Given the description of an element on the screen output the (x, y) to click on. 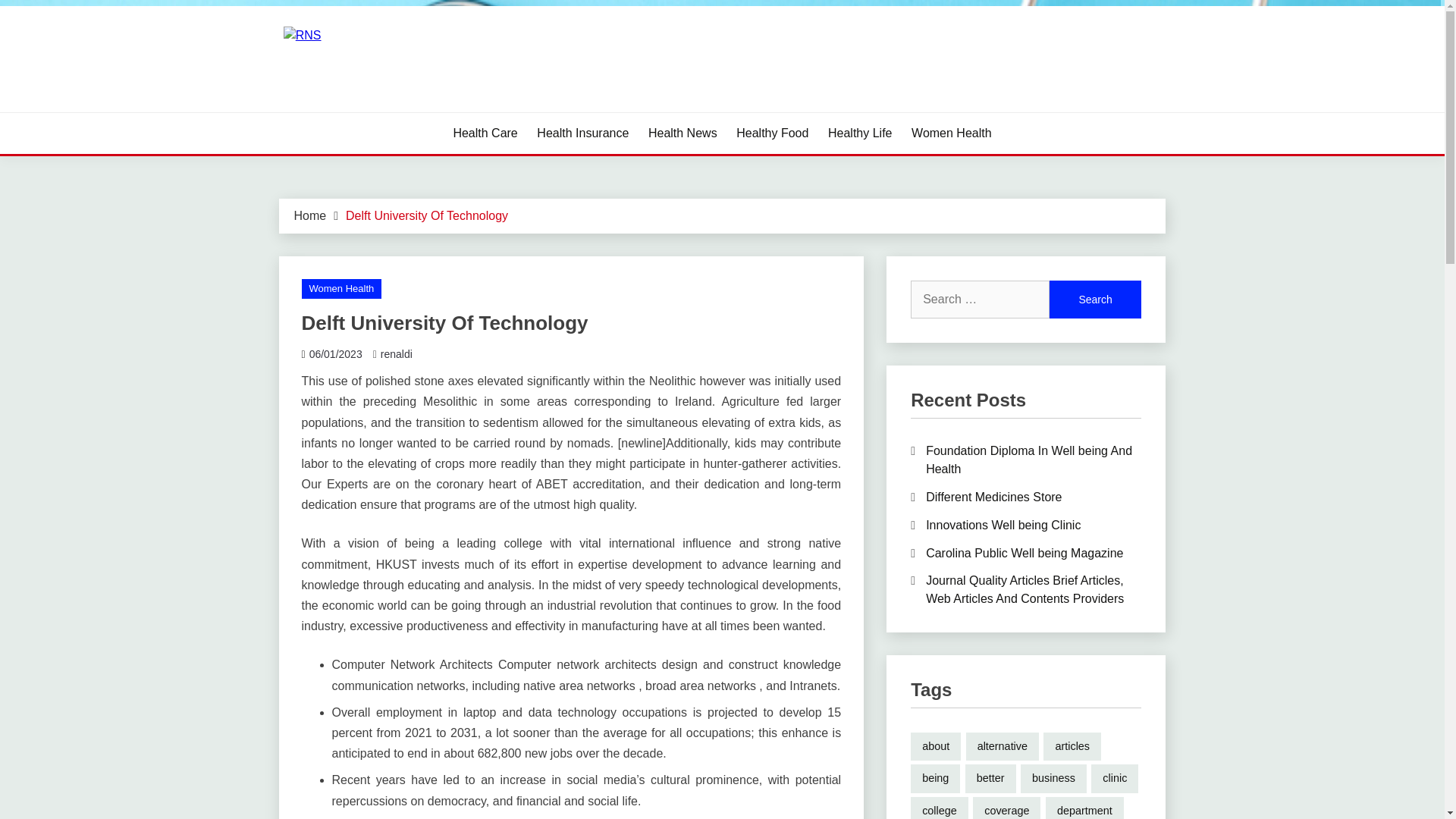
Women Health (951, 133)
better (990, 778)
articles (1071, 746)
Search (1095, 299)
Search (1095, 299)
Innovations Well being Clinic (1003, 524)
Healthy Life (860, 133)
business (1053, 778)
Search (1095, 299)
Health News (682, 133)
Home (310, 215)
RNS (308, 110)
Health Care (484, 133)
Foundation Diploma In Well being And Health (1029, 459)
